Given the description of an element on the screen output the (x, y) to click on. 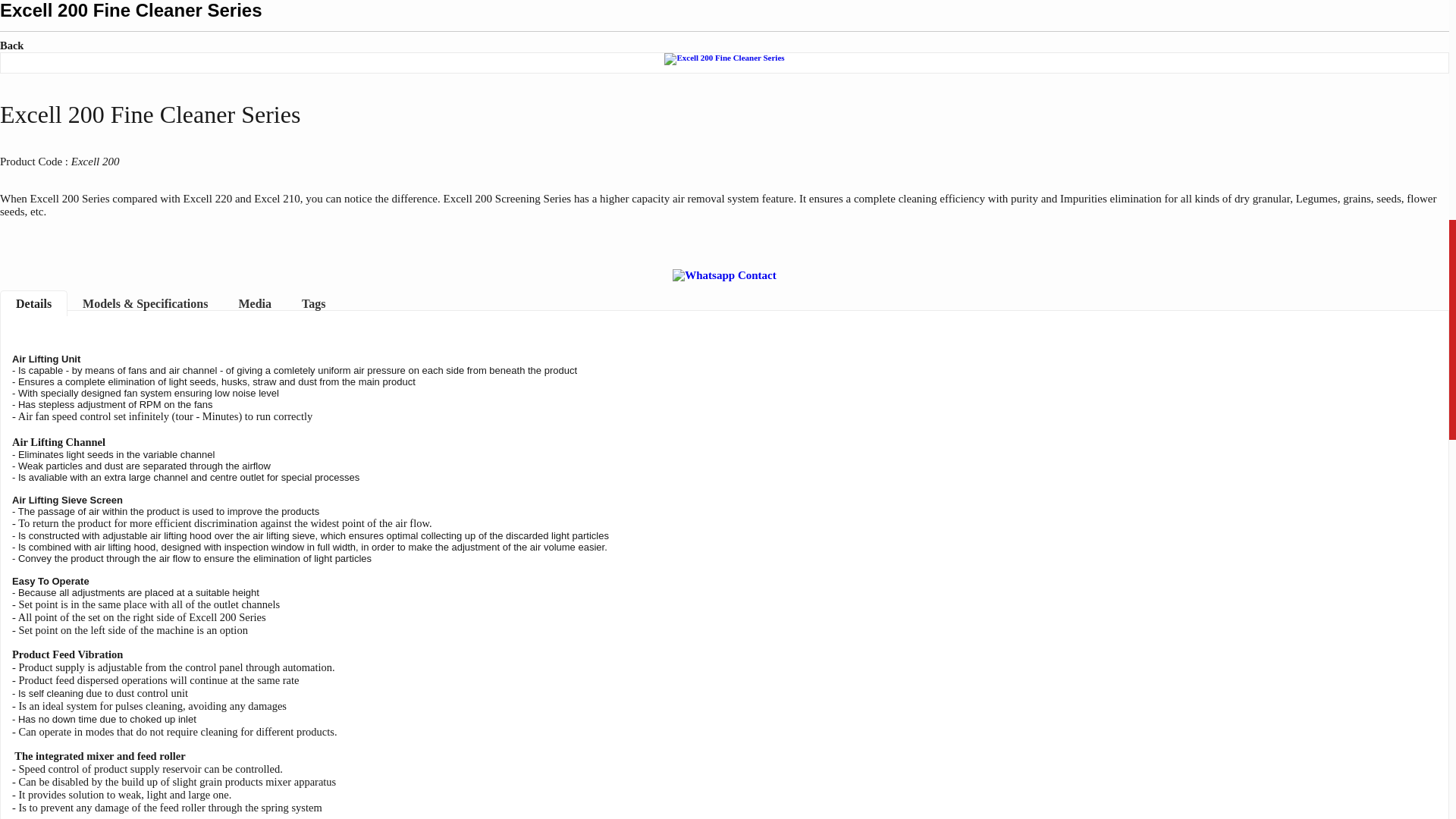
Excell 200 Fine Cleaner Series (723, 57)
Whatsapp Contact (724, 275)
Whatsapp Contact (724, 275)
Excell 200 Fine Cleaner Series (723, 59)
